Given the description of an element on the screen output the (x, y) to click on. 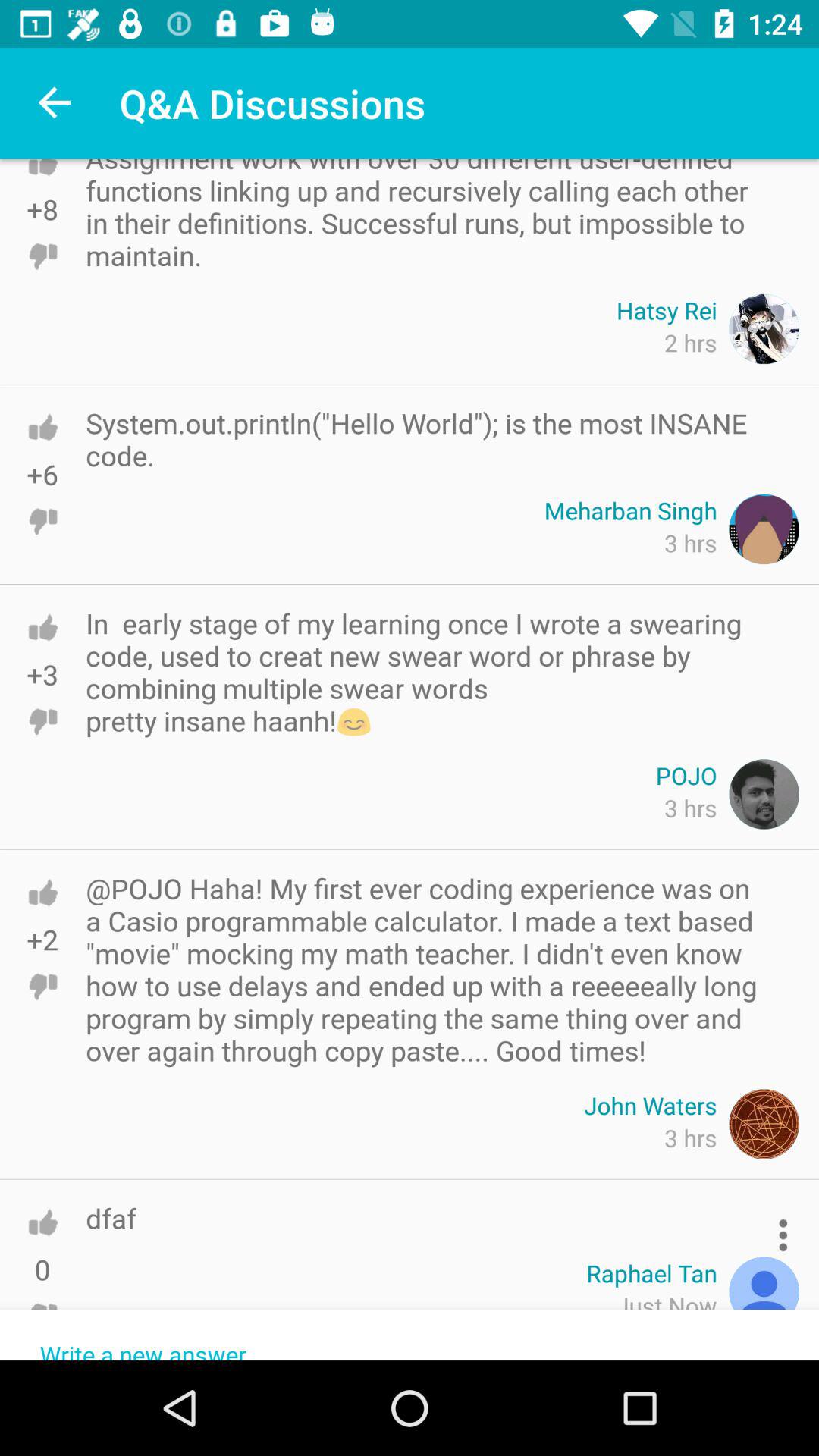
like (42, 427)
